Given the description of an element on the screen output the (x, y) to click on. 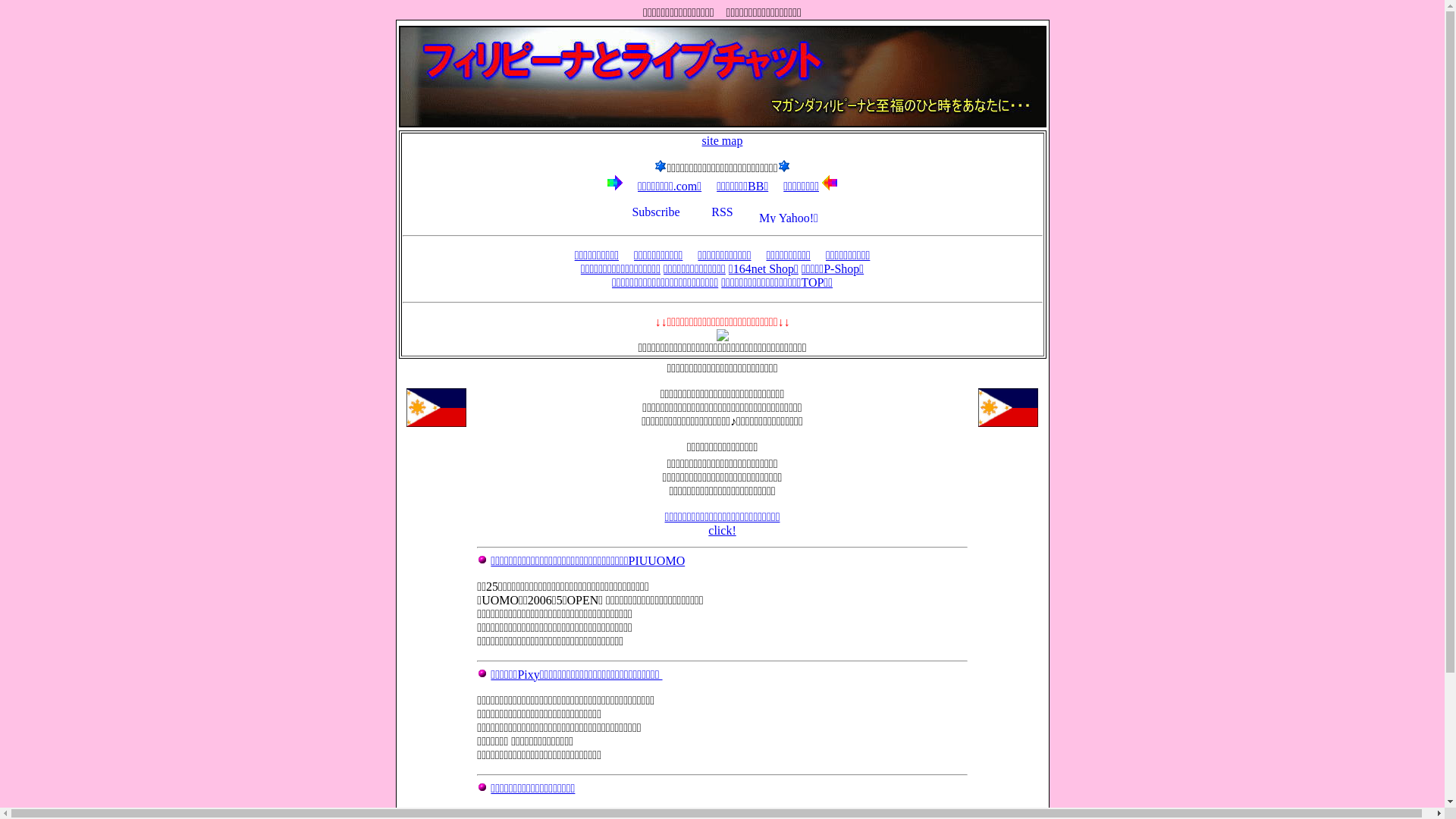
Subscribe with livedoor Reader Element type: hover (655, 212)
site map Element type: text (722, 140)
